Given the description of an element on the screen output the (x, y) to click on. 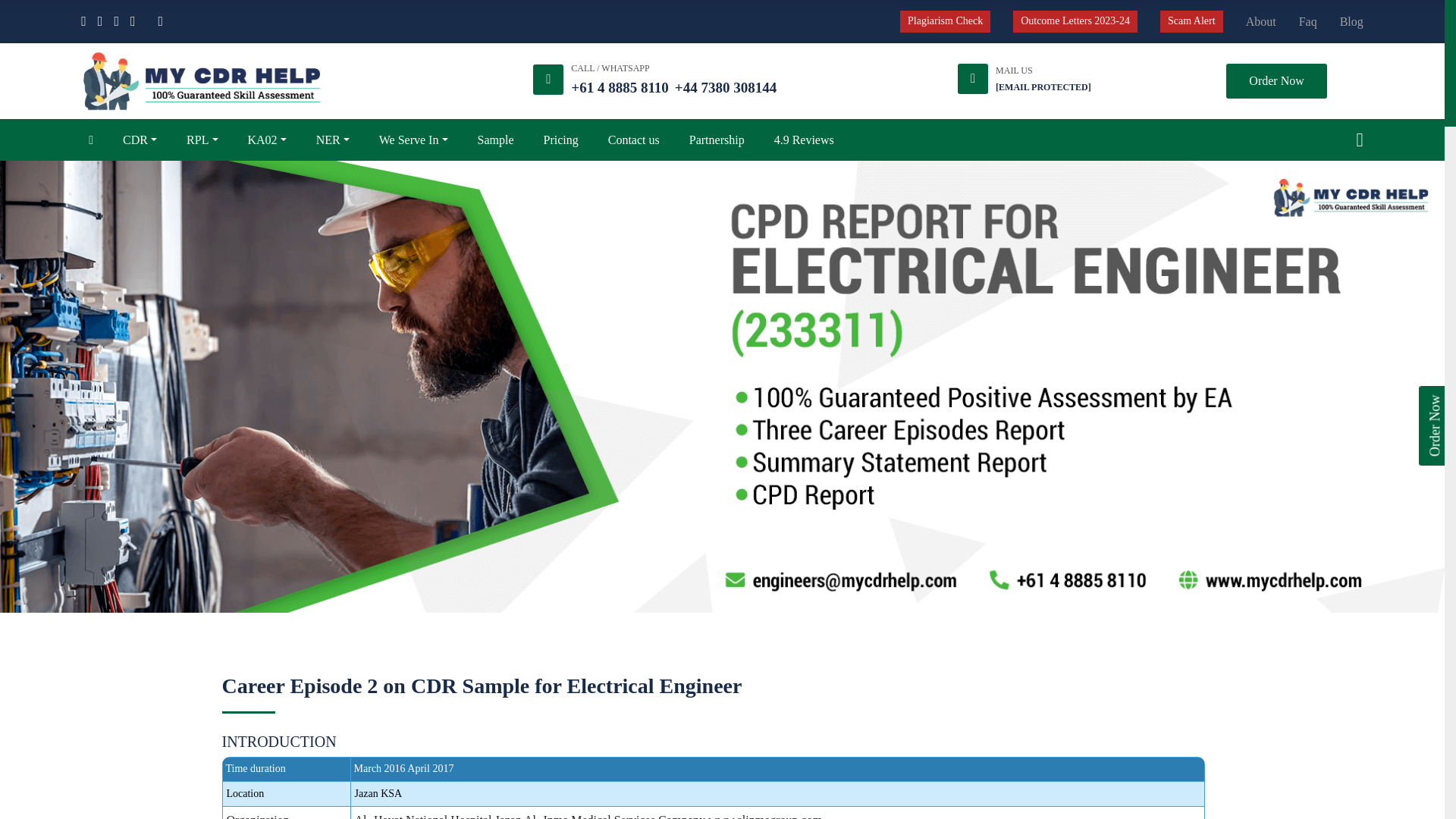
Blog (1350, 21)
Scam Alert (1191, 20)
Faq (1307, 21)
Order Now (1275, 80)
About (1261, 21)
Outcome Letters 2023-24 (1075, 20)
Plagiarism Check (944, 20)
CDR (139, 139)
